Given the description of an element on the screen output the (x, y) to click on. 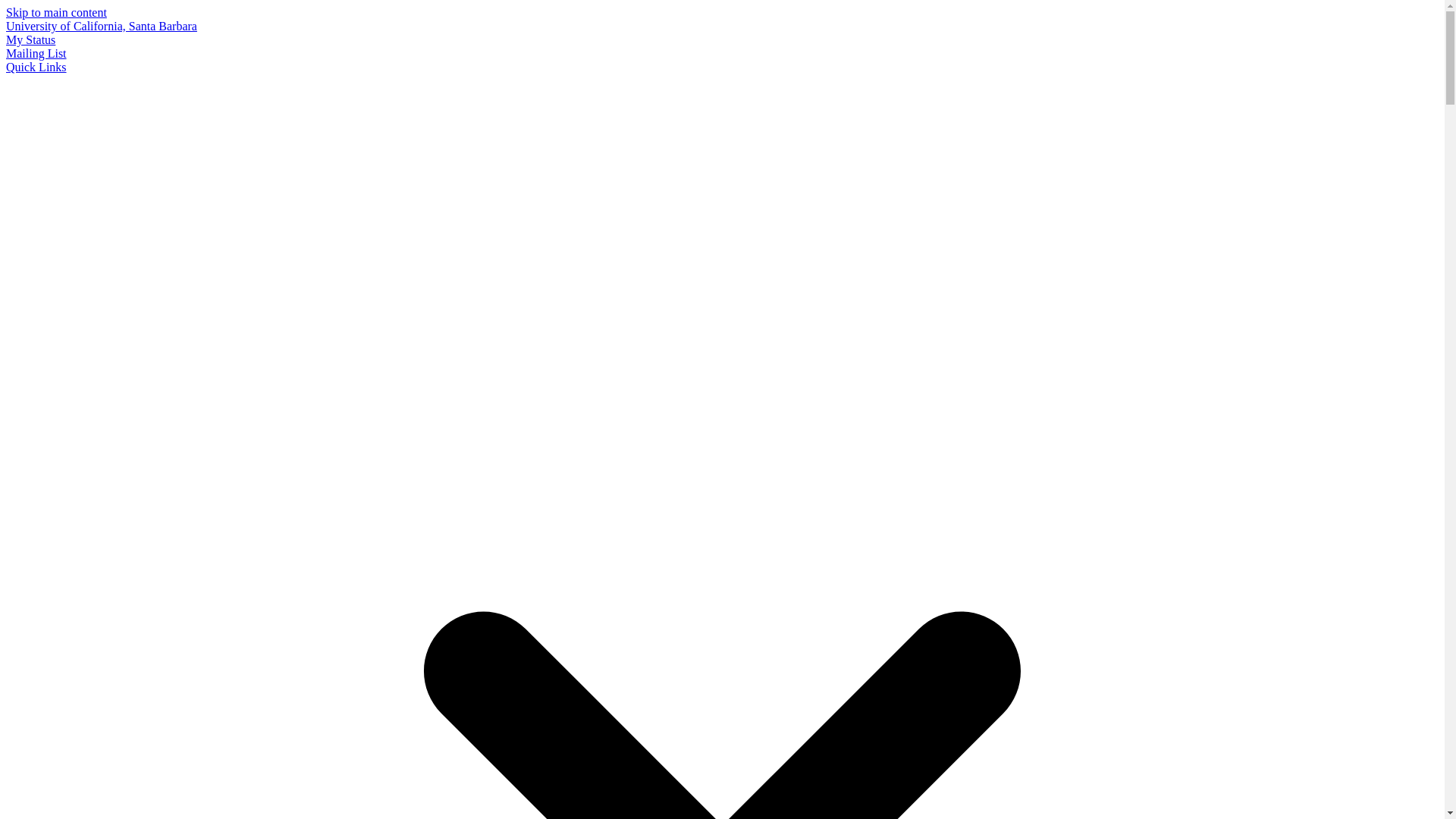
Mailing List (35, 52)
Quick Links (35, 66)
University of California, Santa Barbara (100, 25)
Skip to main content (55, 11)
My Status (30, 39)
